Given the description of an element on the screen output the (x, y) to click on. 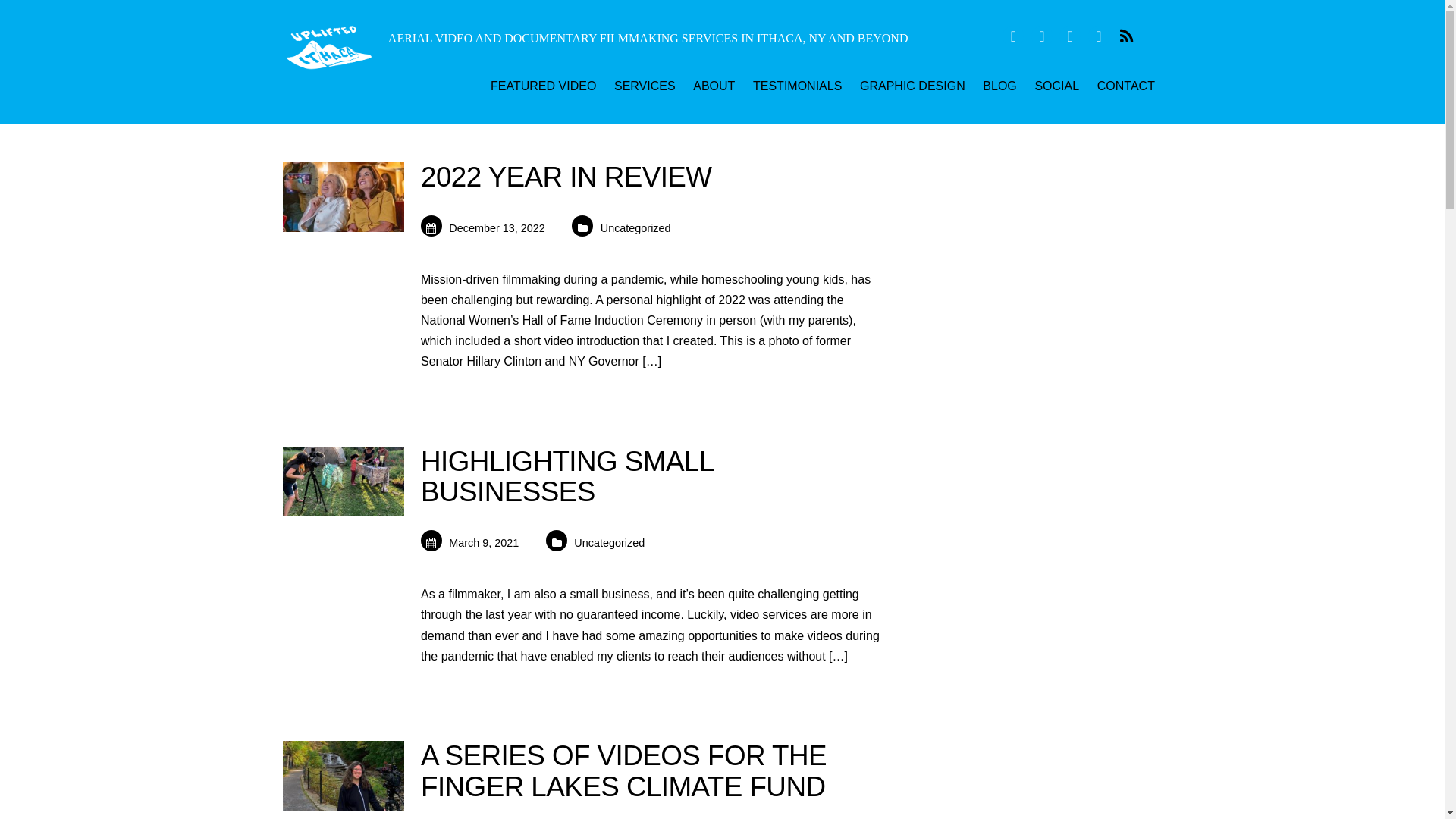
Uncategorized (609, 542)
FEATURED VIDEO (542, 87)
Uncategorized (635, 227)
Uplifted Ithaca (327, 47)
2022 YEAR IN REVIEW (565, 176)
A SERIES OF VIDEOS FOR THE FINGER LAKES CLIMATE FUND (623, 770)
CONTACT (1125, 87)
TESTIMONIALS (796, 87)
GRAPHIC DESIGN (911, 87)
SERVICES (644, 87)
HIGHLIGHTING SMALL BUSINESSES (566, 475)
Uplifted Ithaca (327, 61)
